Given the description of an element on the screen output the (x, y) to click on. 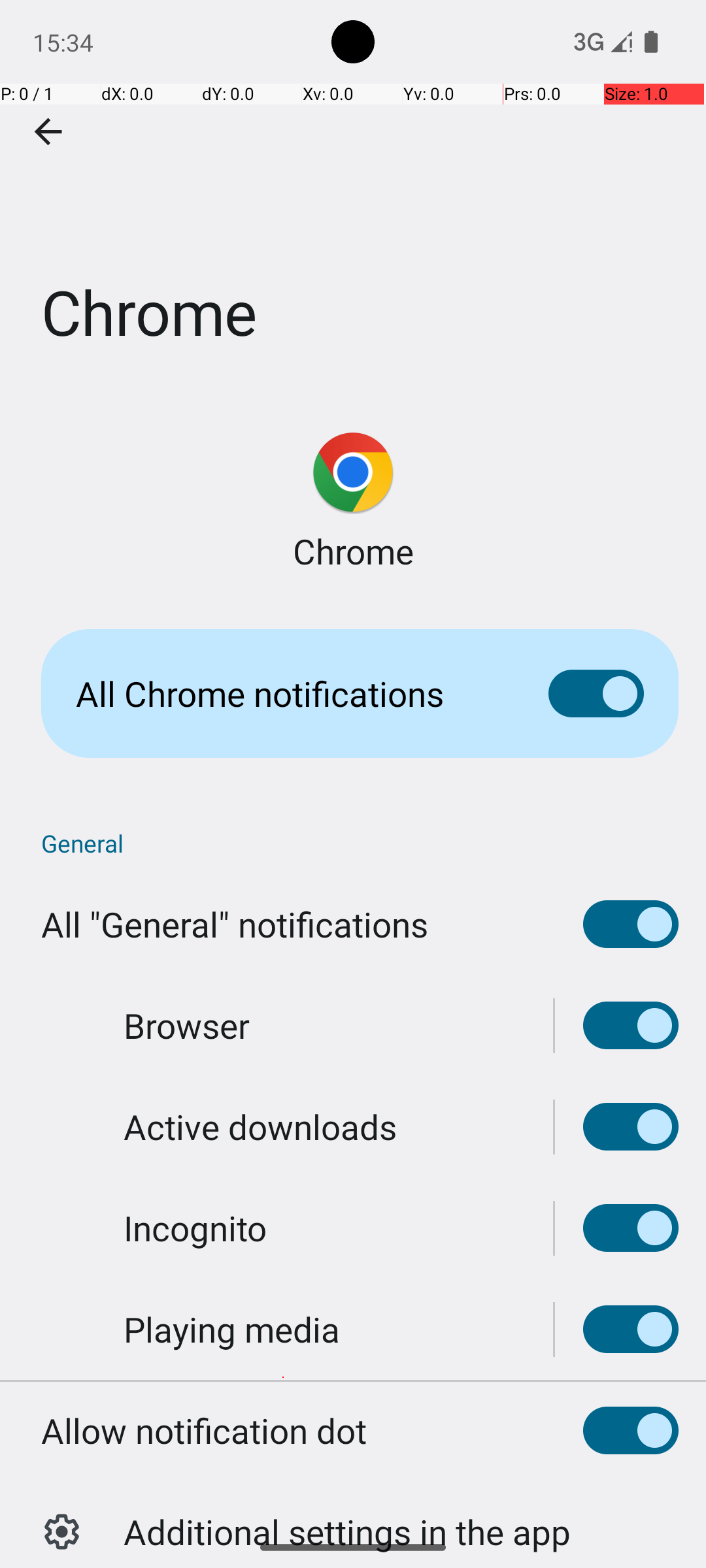
All Chrome notifications Element type: android.widget.TextView (291, 693)
All "General" notifications Element type: android.widget.TextView (234, 923)
Browser Element type: android.widget.TextView (186, 1025)
Active downloads Element type: android.widget.TextView (259, 1126)
Incognito Element type: android.widget.TextView (195, 1227)
Playing media Element type: android.widget.TextView (231, 1329)
Allow notification dot Element type: android.widget.TextView (203, 1430)
Additional settings in the app Element type: android.widget.TextView (346, 1517)
